Given the description of an element on the screen output the (x, y) to click on. 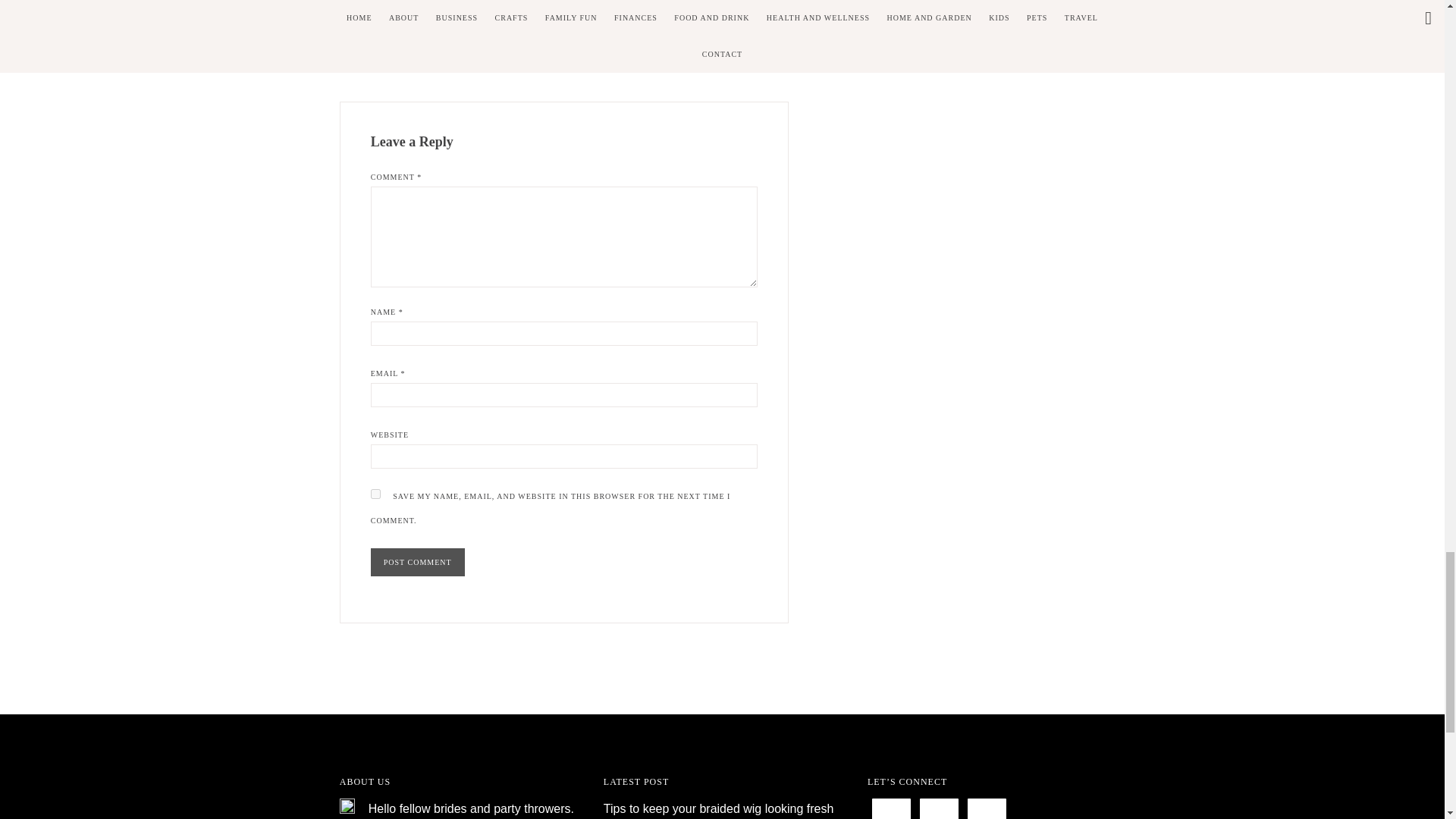
Post Comment (417, 561)
Post Comment (417, 561)
yes (375, 493)
